Given the description of an element on the screen output the (x, y) to click on. 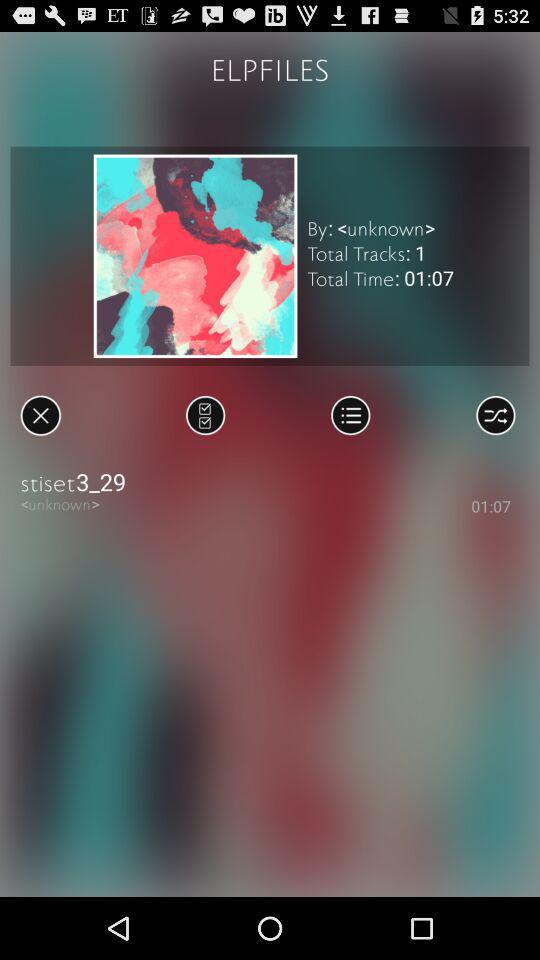
jump to the stiset3_29 icon (270, 481)
